Given the description of an element on the screen output the (x, y) to click on. 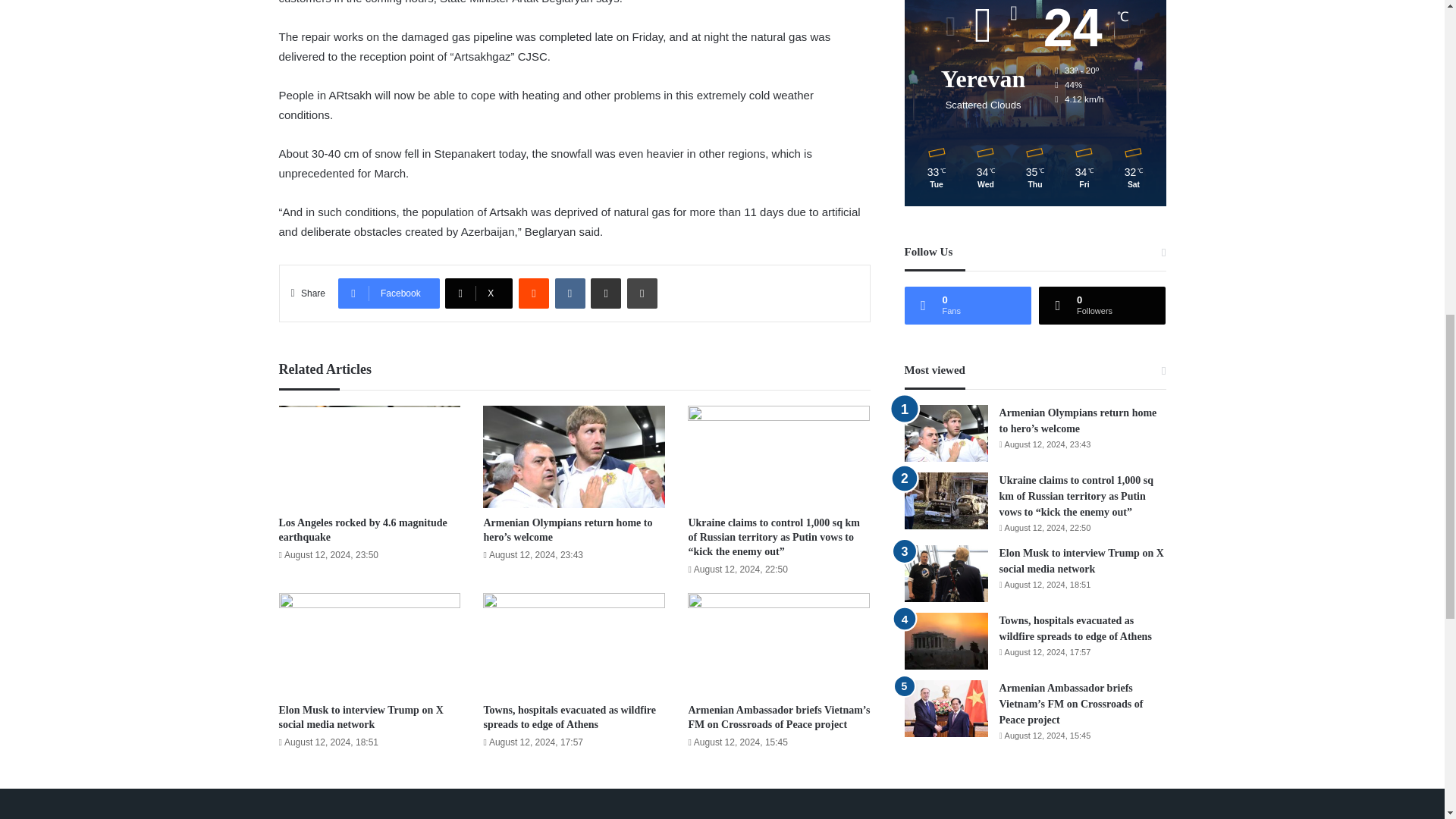
Facebook (388, 293)
Reddit (533, 293)
VKontakte (569, 293)
X (478, 293)
Share via Email (606, 293)
Facebook (388, 293)
Print (642, 293)
